Given the description of an element on the screen output the (x, y) to click on. 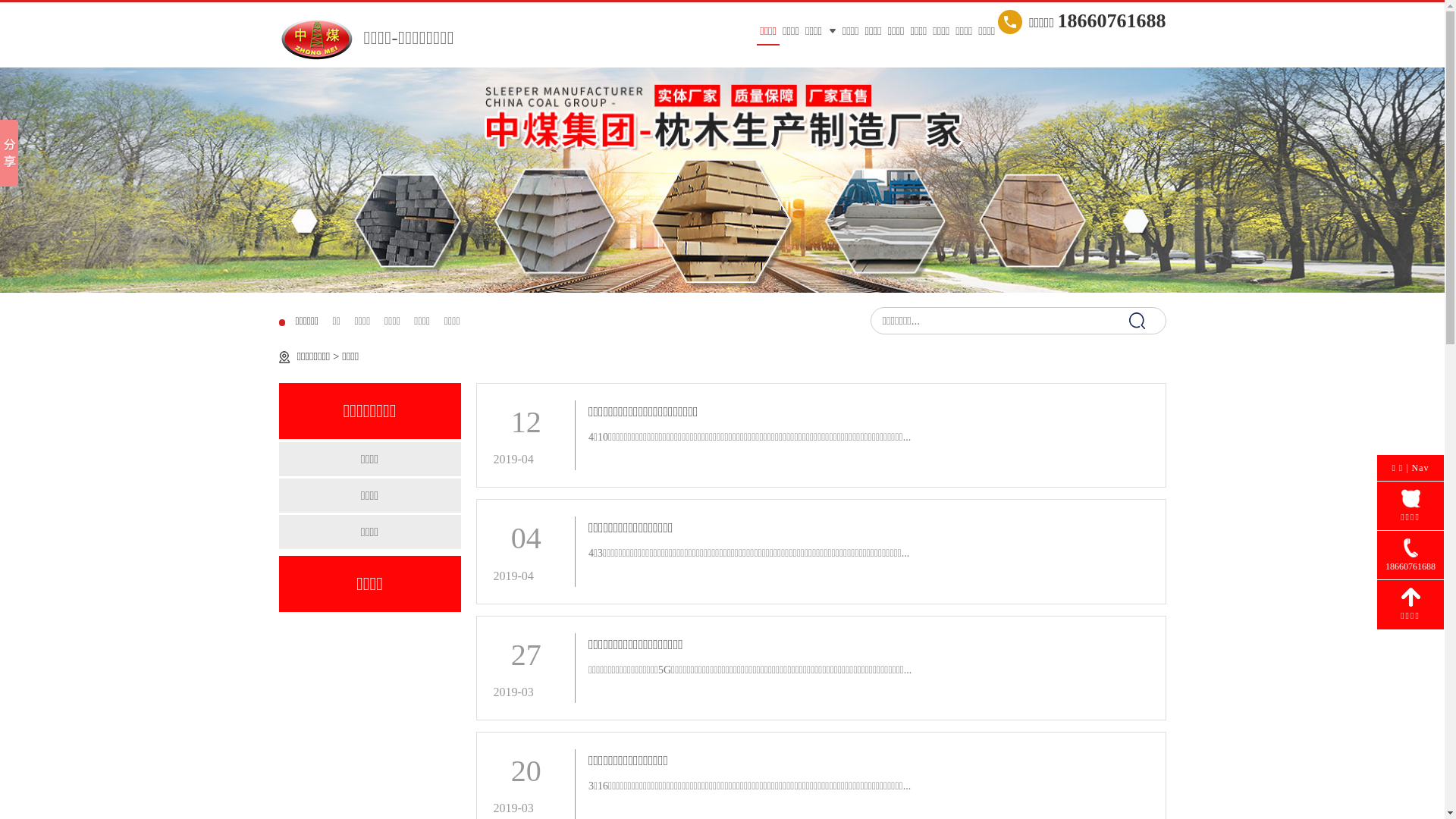
18660761688 Element type: text (1410, 555)
